Given the description of an element on the screen output the (x, y) to click on. 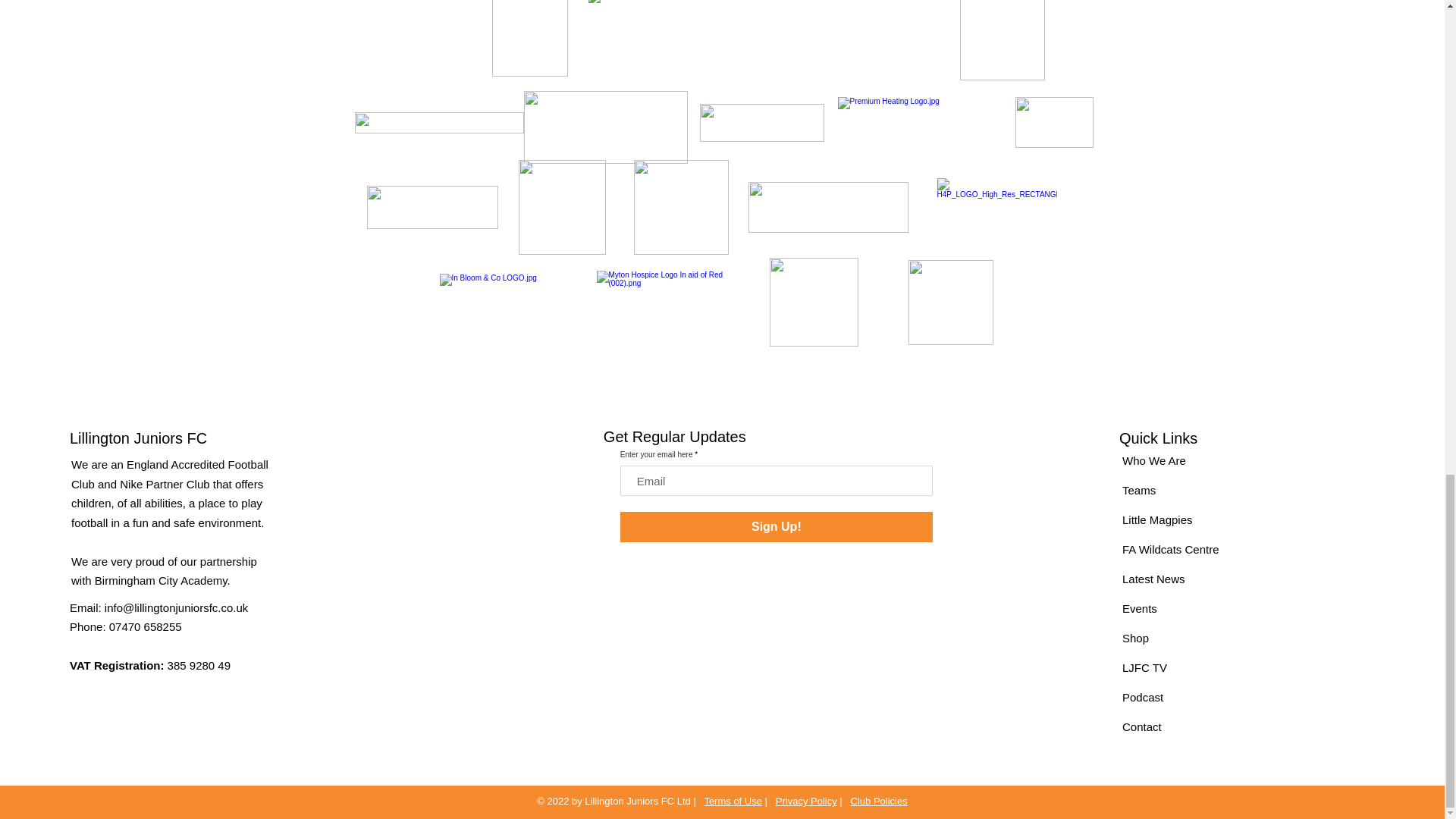
tips trade.png (812, 301)
LOGO.jpg (681, 206)
dp lovell.jpg (604, 126)
